Given the description of an element on the screen output the (x, y) to click on. 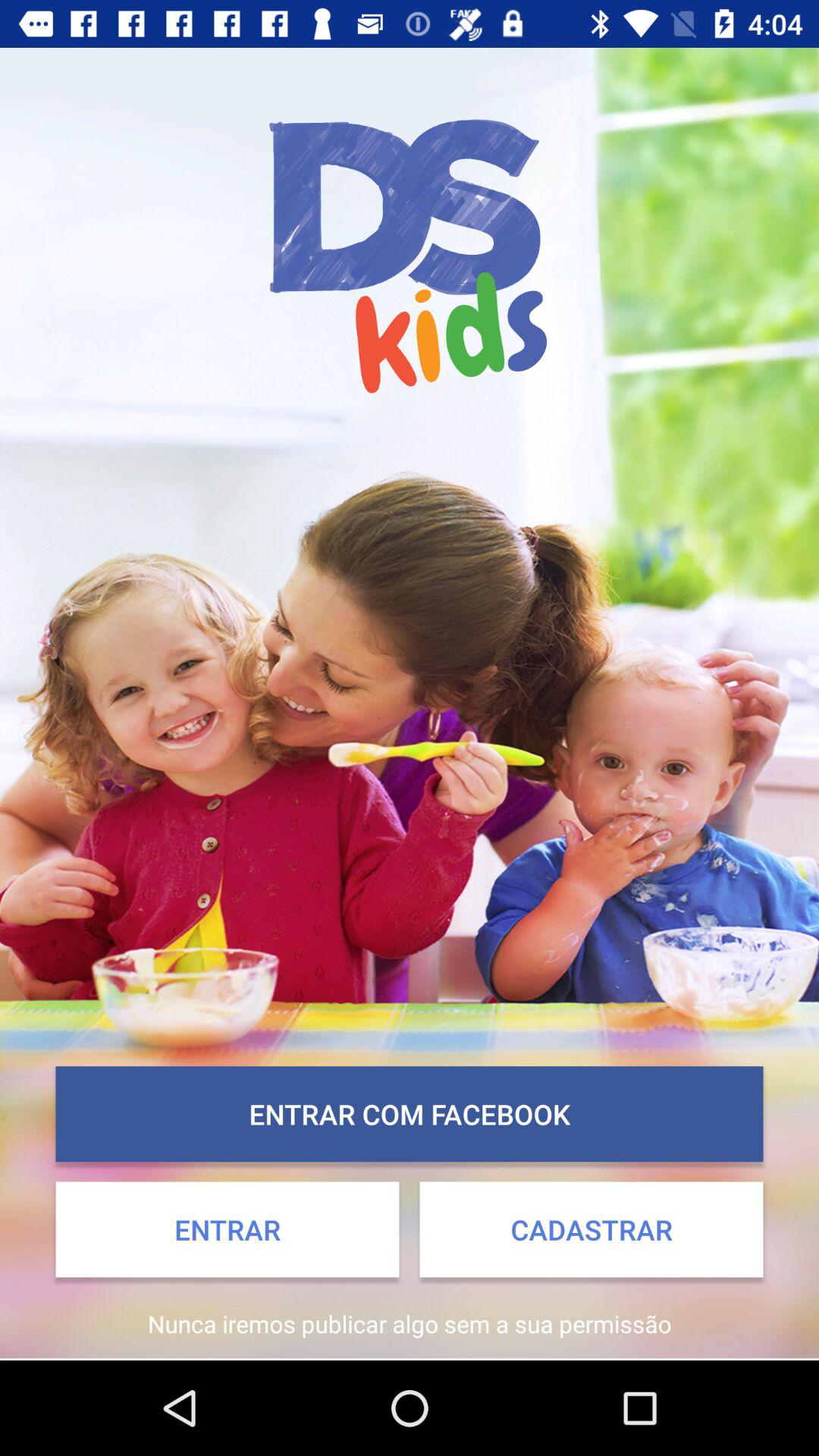
click item at the bottom right corner (591, 1229)
